Given the description of an element on the screen output the (x, y) to click on. 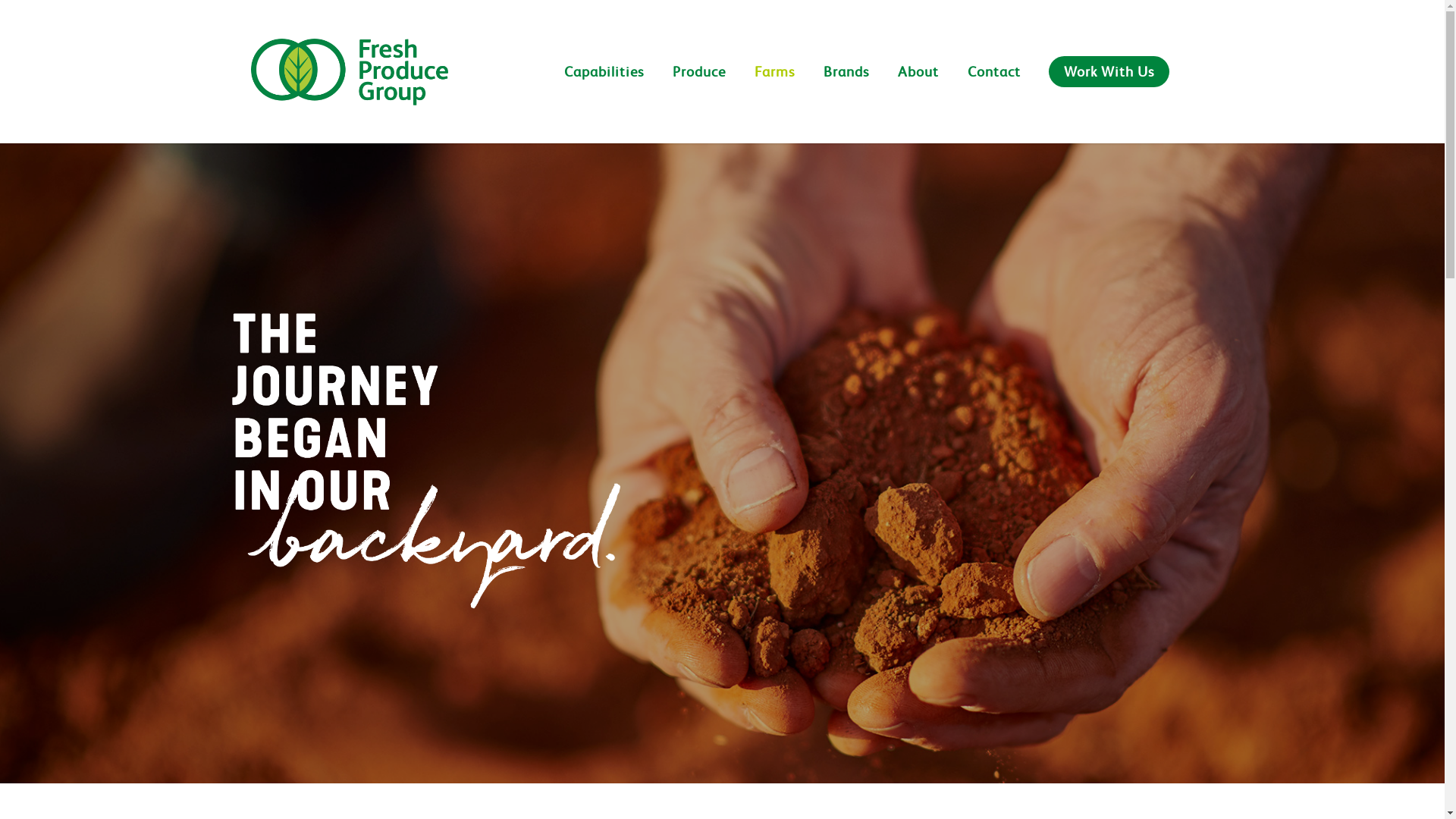
About Element type: text (918, 90)
Brands Element type: text (845, 90)
Farms Element type: text (774, 90)
Capabilities Element type: text (603, 90)
Produce Element type: text (698, 90)
Work With Us Element type: text (1108, 90)
Contact Element type: text (993, 90)
